Given the description of an element on the screen output the (x, y) to click on. 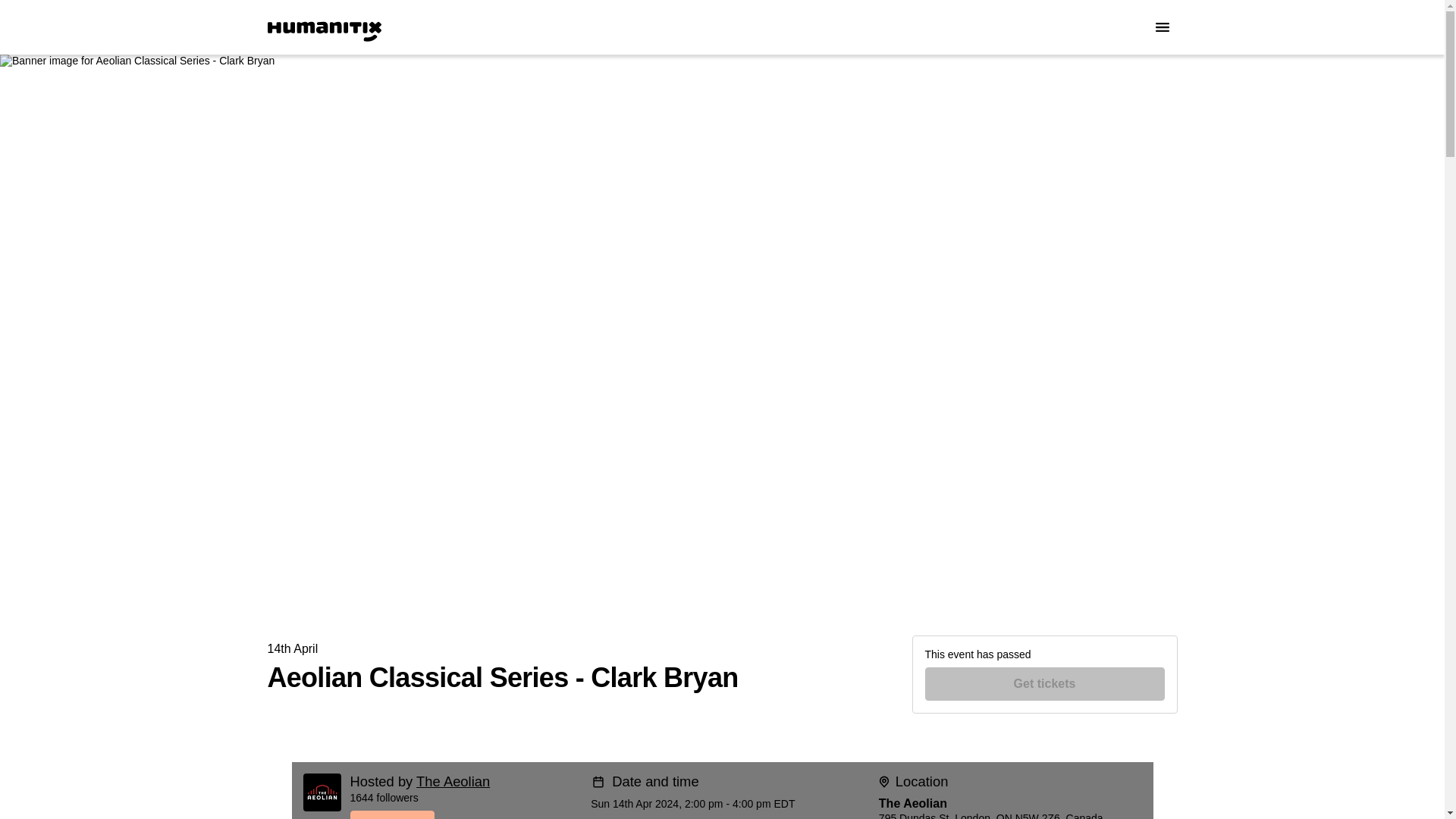
Get tickets (1044, 684)
The Aeolian (452, 781)
Skip to Content (18, 18)
Follow (465, 814)
